Given the description of an element on the screen output the (x, y) to click on. 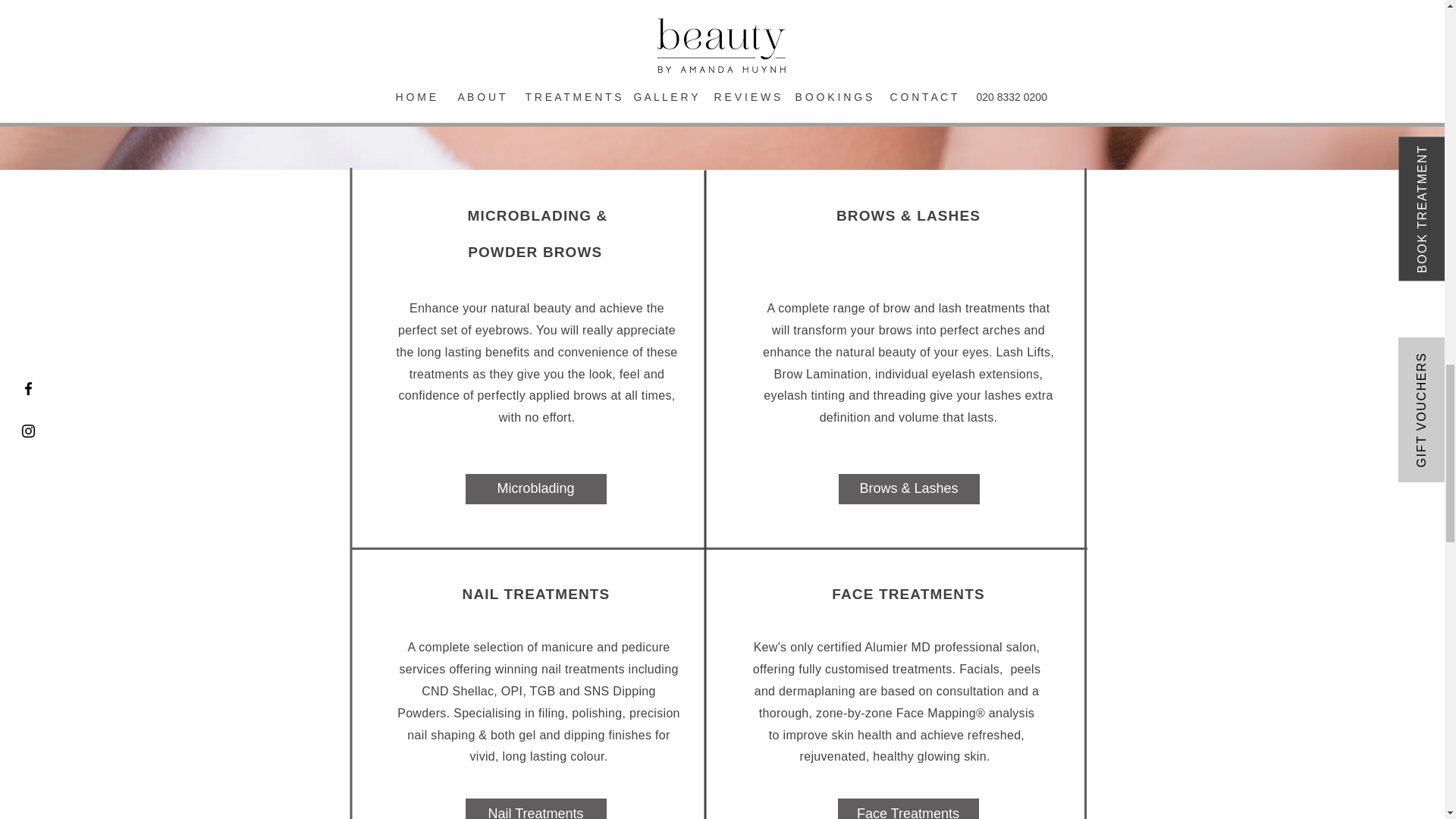
Nail Treatments (536, 808)
Face Treatments (907, 808)
Microblading (536, 489)
